Given the description of an element on the screen output the (x, y) to click on. 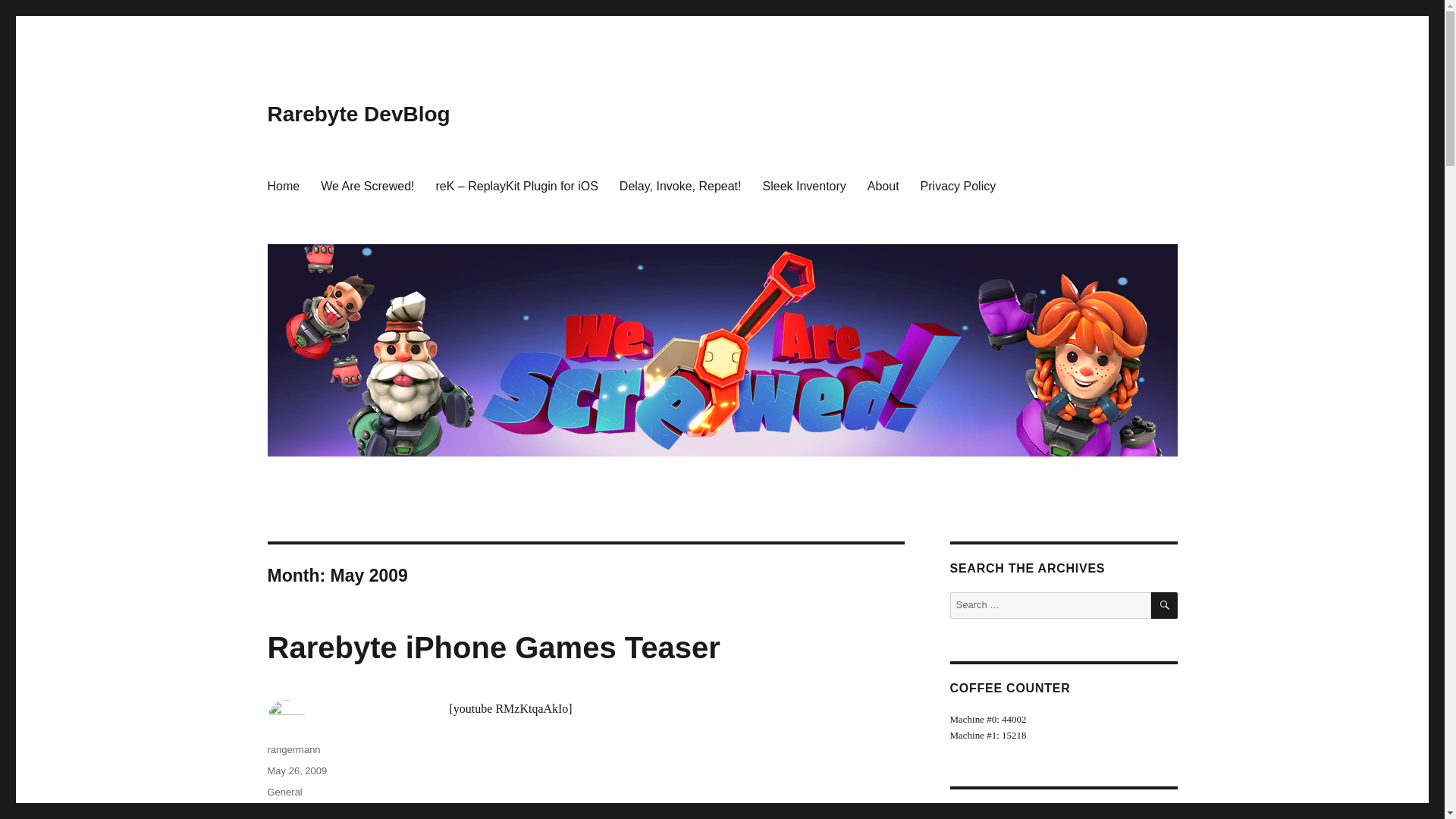
Rarebyte iPhone Games Teaser (492, 647)
We Are Screwed! (367, 185)
General (283, 791)
Home (283, 185)
May 26, 2009 (296, 770)
rangermann (293, 749)
About (883, 185)
Privacy Policy (958, 185)
Rarebyte DevBlog (357, 114)
Delay, Invoke, Repeat! (680, 185)
Sleek Inventory (305, 813)
